Given the description of an element on the screen output the (x, y) to click on. 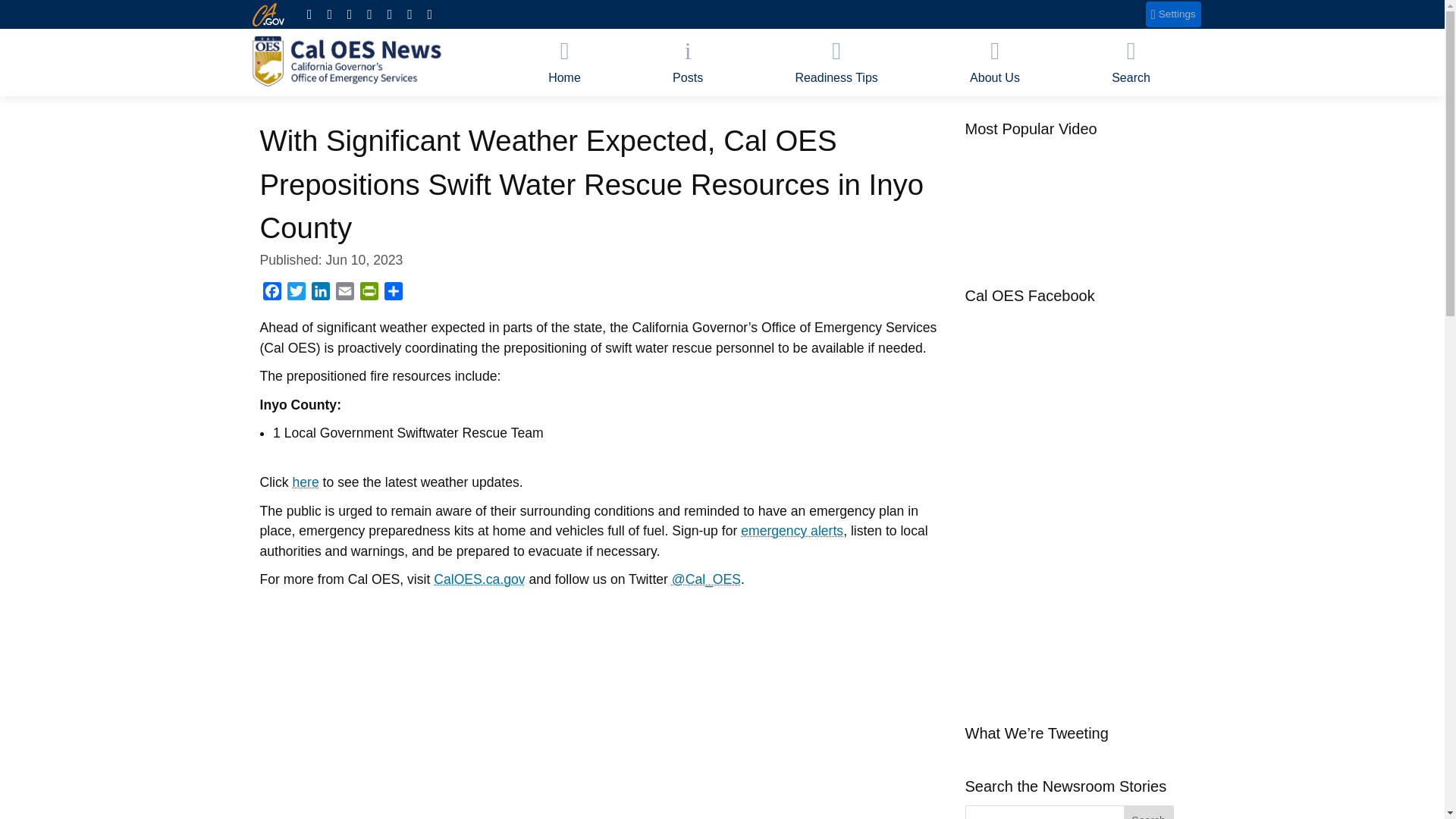
CA.gov website (267, 14)
Email (343, 293)
emergency alerts (792, 530)
PrintFriendly (368, 293)
Twitter (295, 293)
LinkedIn (319, 293)
Readiness Tips (836, 62)
Home (564, 62)
Email (343, 293)
Search (1130, 62)
here (305, 482)
Posts (687, 62)
Share (392, 293)
Search (1148, 812)
CalOES.ca.gov (478, 579)
